Given the description of an element on the screen output the (x, y) to click on. 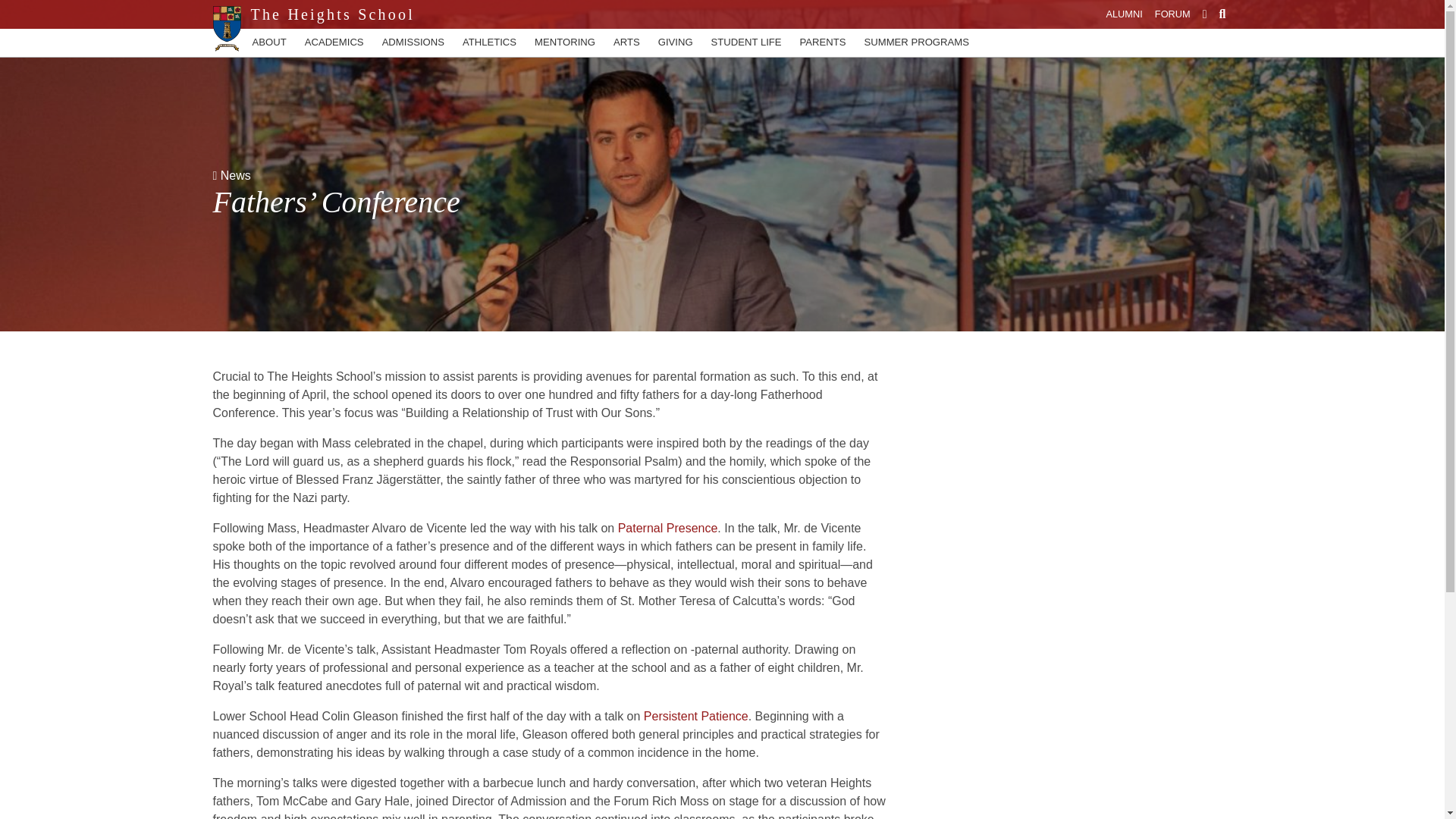
ACADEMICS (333, 42)
FORUM (1172, 14)
The Heights School (328, 14)
ALUMNI (1123, 14)
ABOUT (269, 42)
